Given the description of an element on the screen output the (x, y) to click on. 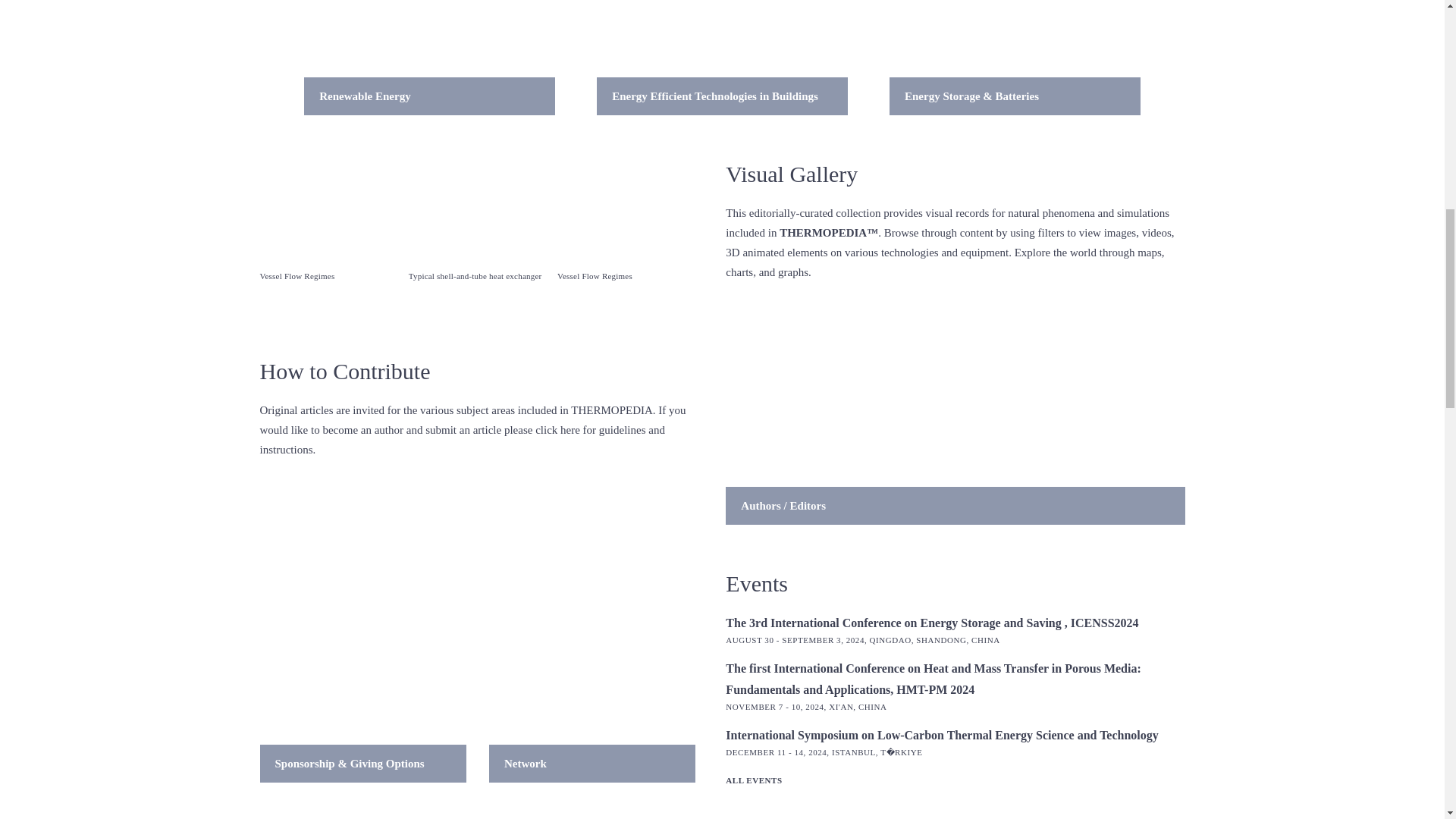
Information For Authors (429, 57)
